Given the description of an element on the screen output the (x, y) to click on. 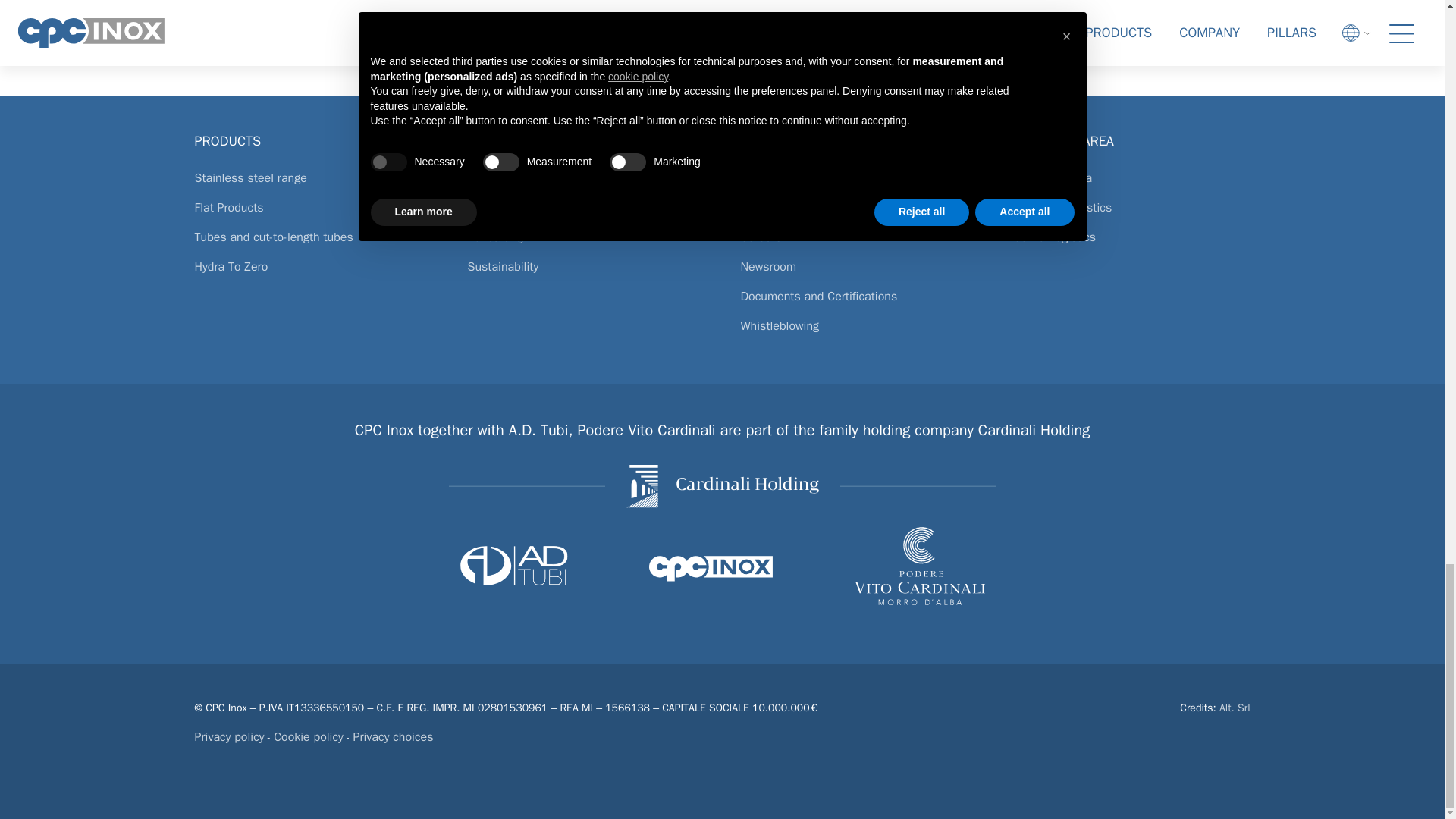
Carrier logistics (1131, 243)
Contacts (857, 214)
Tubes and cut-to-length tubes (311, 243)
Hydra To Zero (311, 273)
Careers (857, 243)
Documents and Certifications (857, 302)
Customer logistics (1131, 214)
Customer Area (1131, 184)
Cookie policy (308, 736)
Newsroom (857, 273)
Sustainability (585, 273)
Whistleblowing (857, 332)
Privacy policy (228, 736)
Company (857, 184)
Punctuality (585, 243)
